Given the description of an element on the screen output the (x, y) to click on. 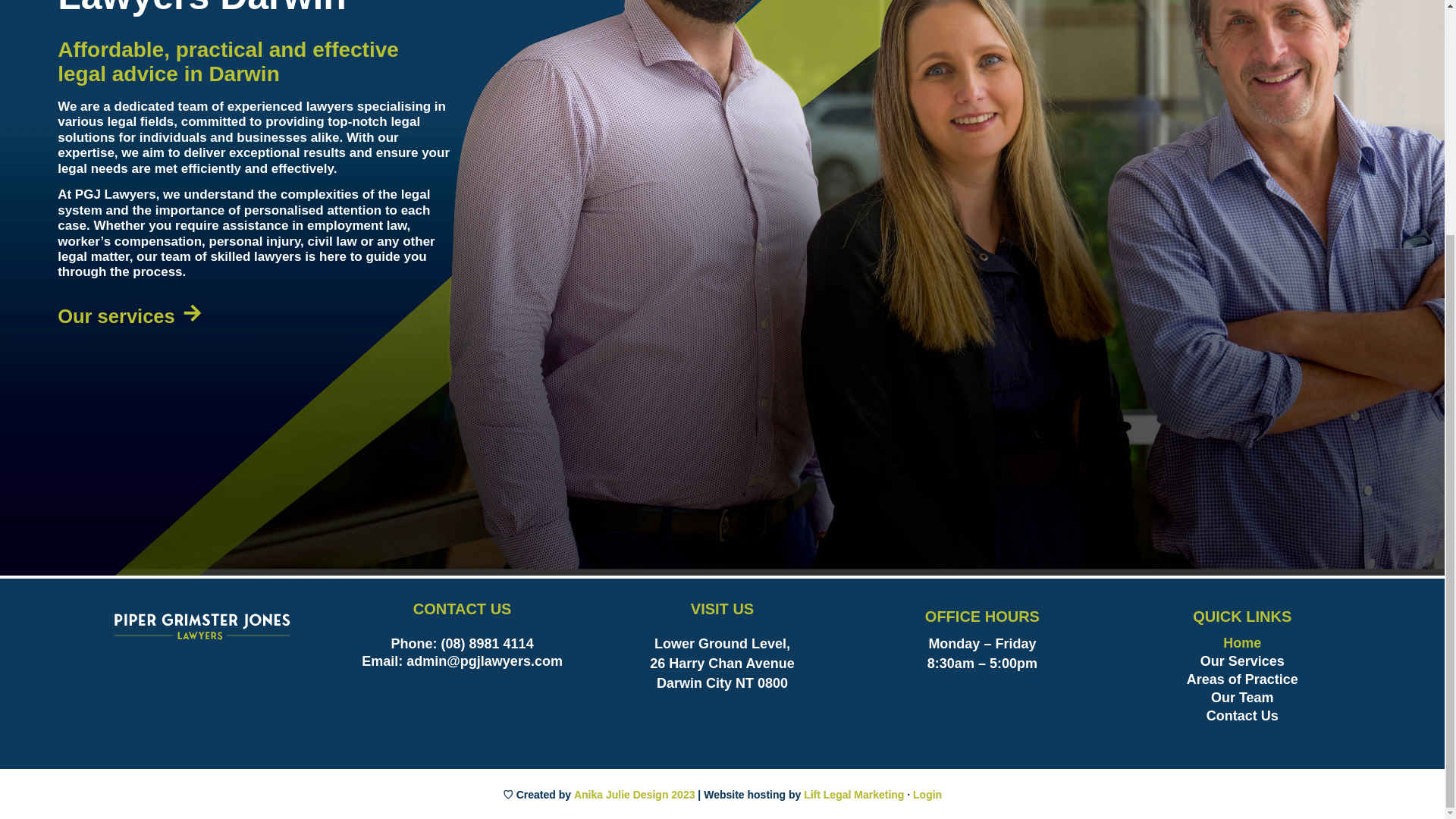
Areas of Practice (1241, 679)
Home (1241, 642)
Our services (130, 316)
Our Services (1241, 660)
